Given the description of an element on the screen output the (x, y) to click on. 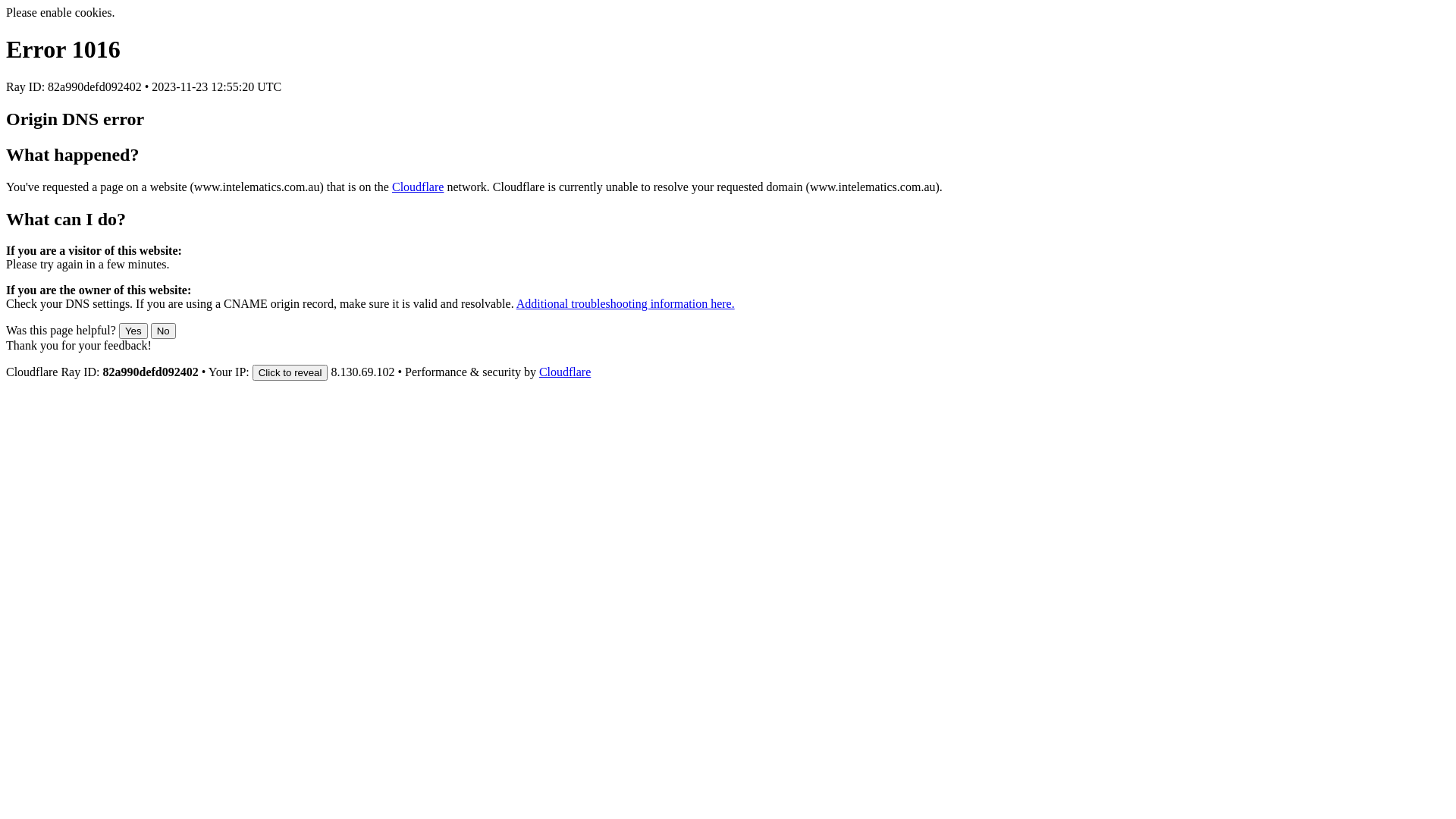
Yes Element type: text (133, 330)
No Element type: text (162, 330)
Cloudflare Element type: text (417, 186)
Cloudflare Element type: text (564, 371)
Additional troubleshooting information here. Element type: text (625, 303)
Click to reveal Element type: text (290, 372)
